Given the description of an element on the screen output the (x, y) to click on. 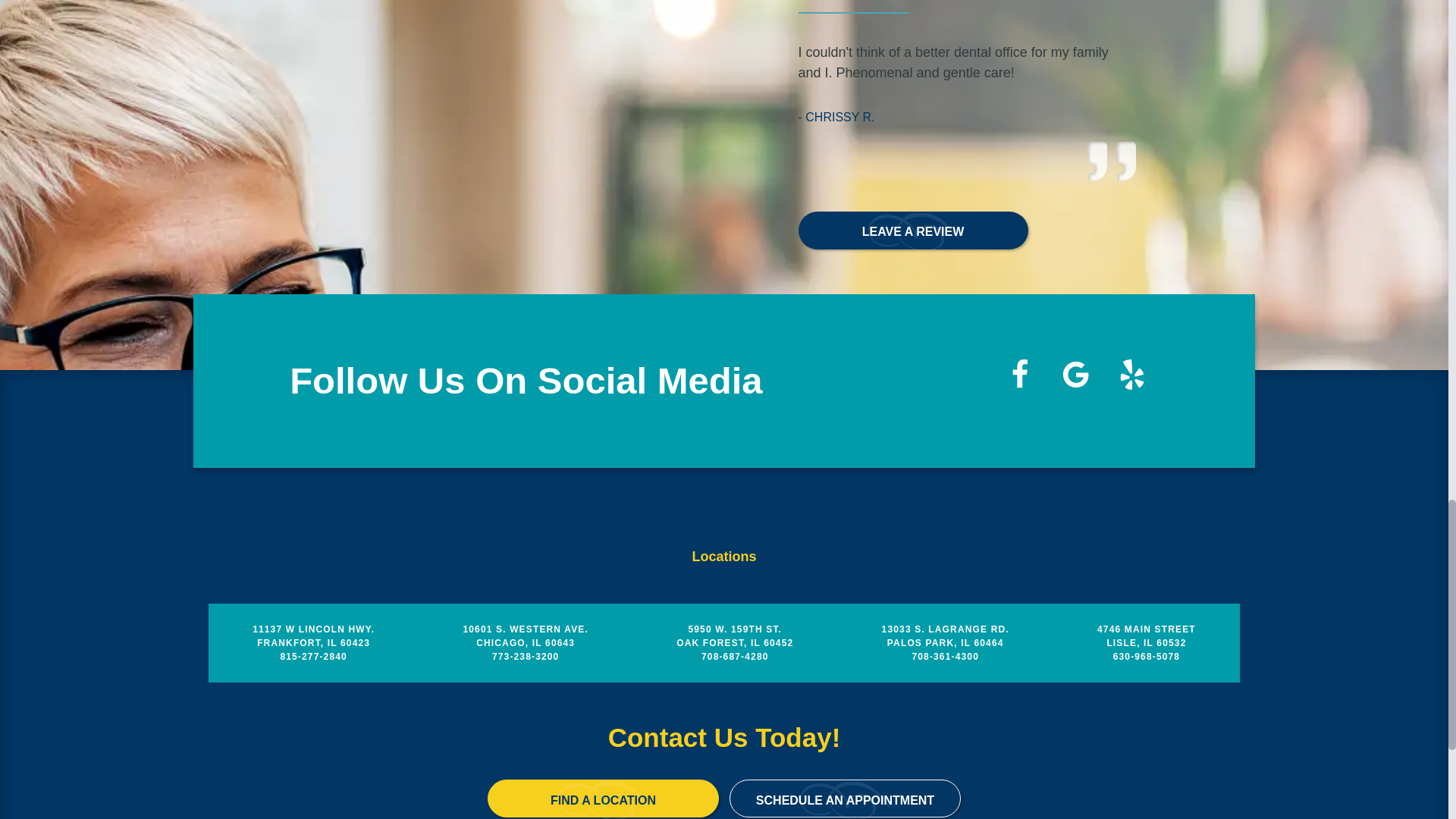
Facebook icon (1019, 374)
Google icon (1075, 374)
Yelp icon (1131, 374)
